Given the description of an element on the screen output the (x, y) to click on. 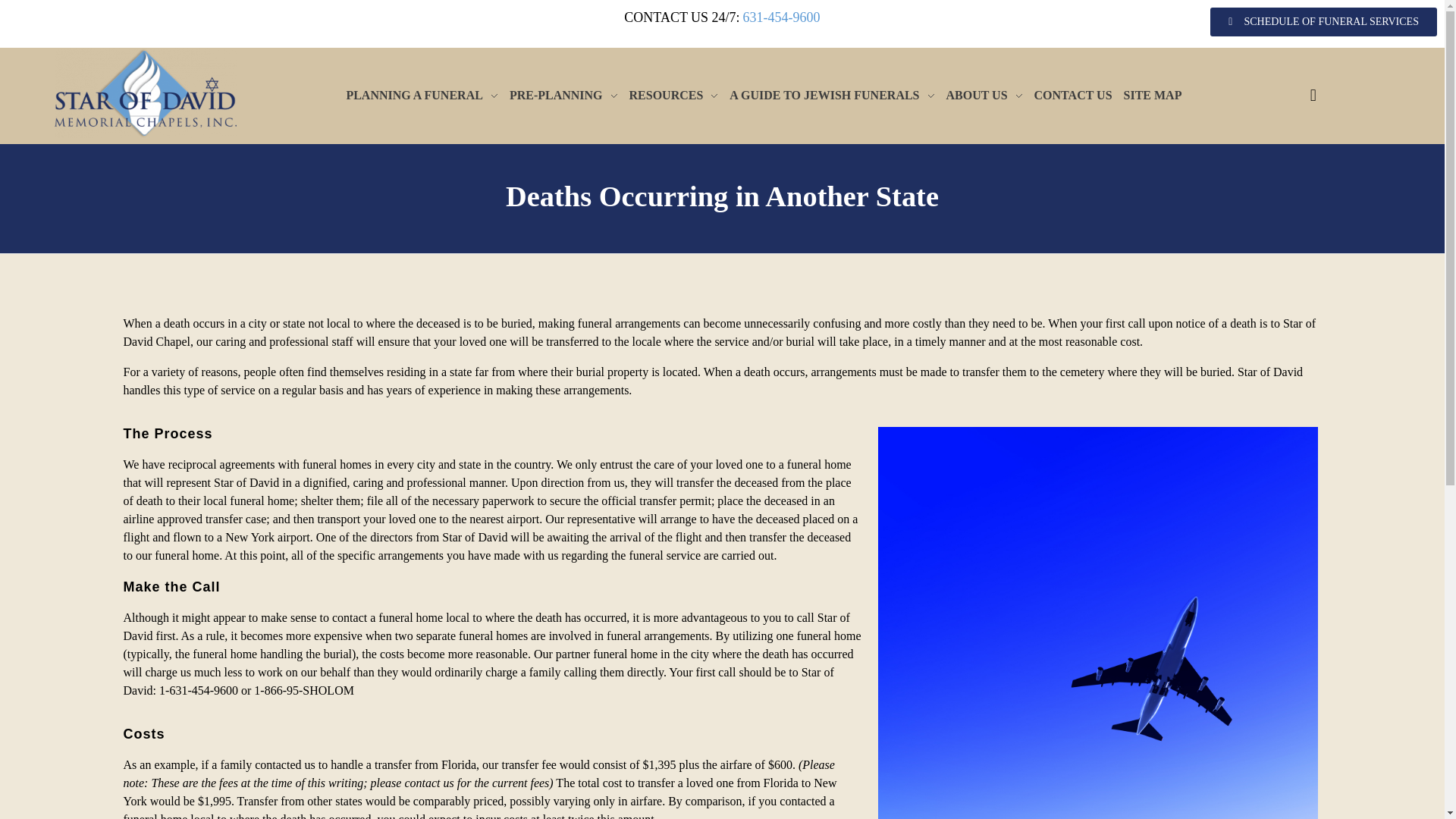
RESOURCES (679, 95)
631-454-9600 (781, 17)
Star of David Memorial Chapels (145, 92)
PLANNING A FUNERAL (427, 95)
Star of David Memorial Chapels (189, 147)
PRE-PLANNING (568, 95)
SCHEDULE OF FUNERAL SERVICES (1323, 21)
Star of David Memorial Chapels (189, 147)
